Given the description of an element on the screen output the (x, y) to click on. 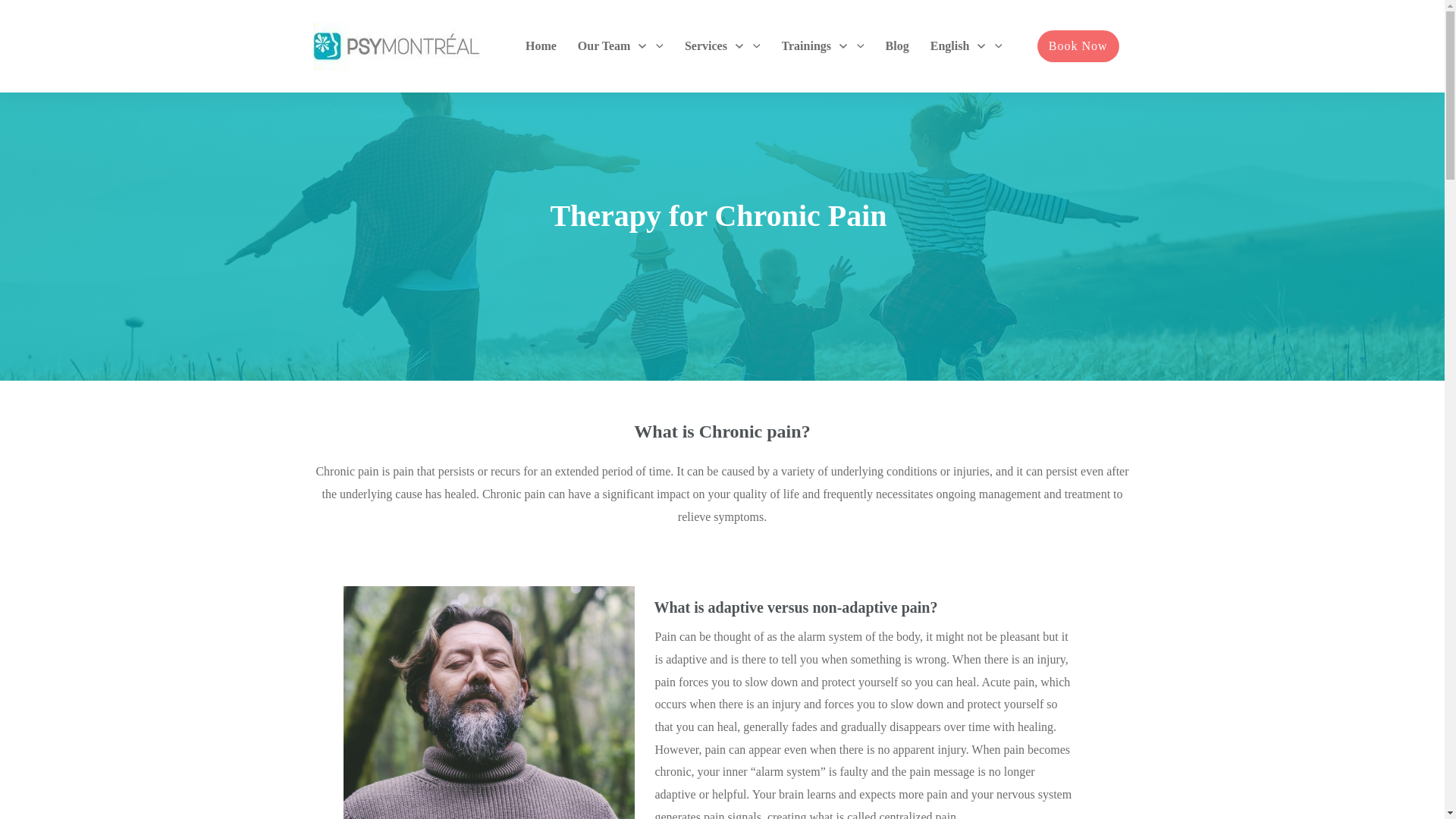
Blog (896, 46)
Services (722, 46)
Book Now (1077, 46)
GettyImages-1431432811 (473, 702)
Home (540, 46)
English (966, 46)
Our Team (620, 46)
Trainings (821, 46)
English (966, 46)
